Given the description of an element on the screen output the (x, y) to click on. 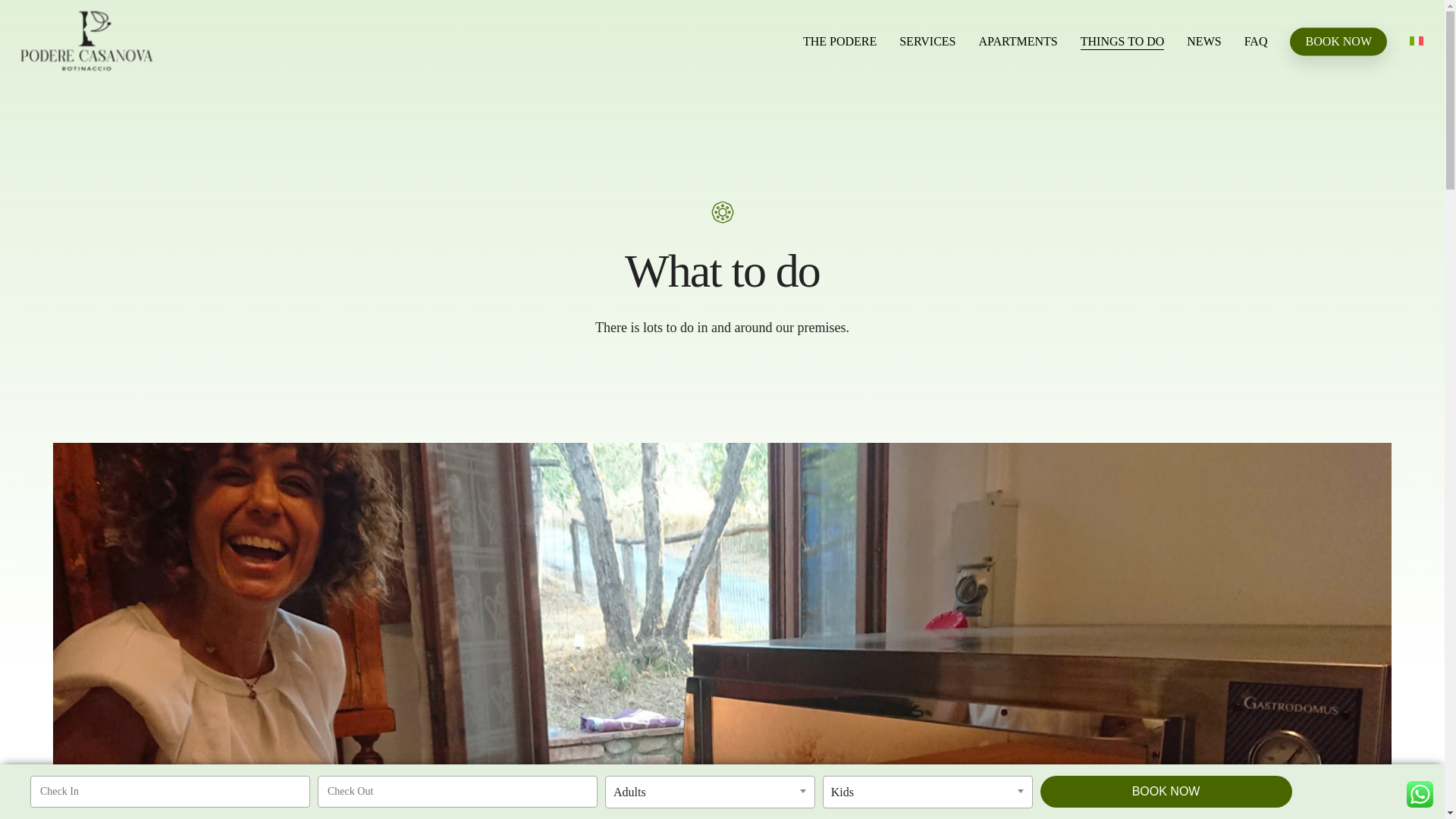
THINGS TO DO (1122, 41)
NEWS (1203, 41)
FAQ (1256, 41)
THE PODERE (839, 41)
BOOK NOW (1338, 41)
APARTMENTS (1018, 41)
SERVICES (927, 41)
